Given the description of an element on the screen output the (x, y) to click on. 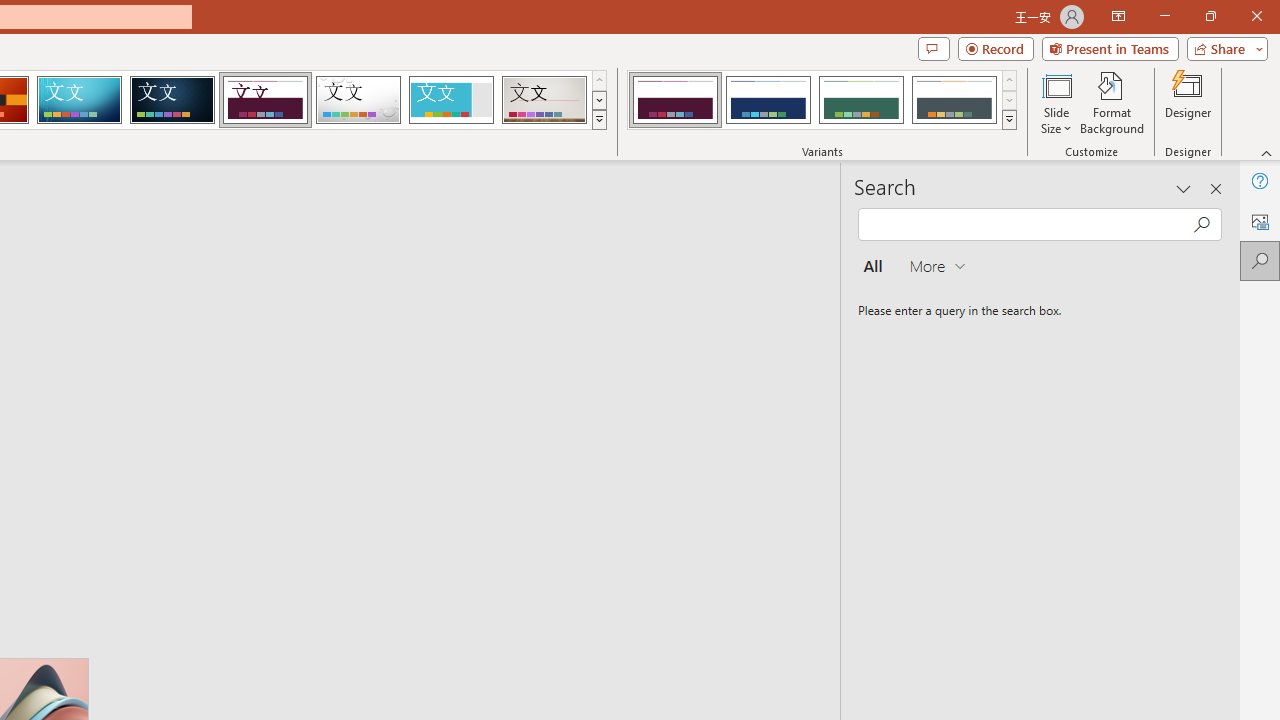
Variants (1009, 120)
Dividend (265, 100)
Dividend Variant 3 (861, 100)
Dividend Variant 2 (768, 100)
Slide Size (1056, 102)
Themes (598, 120)
